Given the description of an element on the screen output the (x, y) to click on. 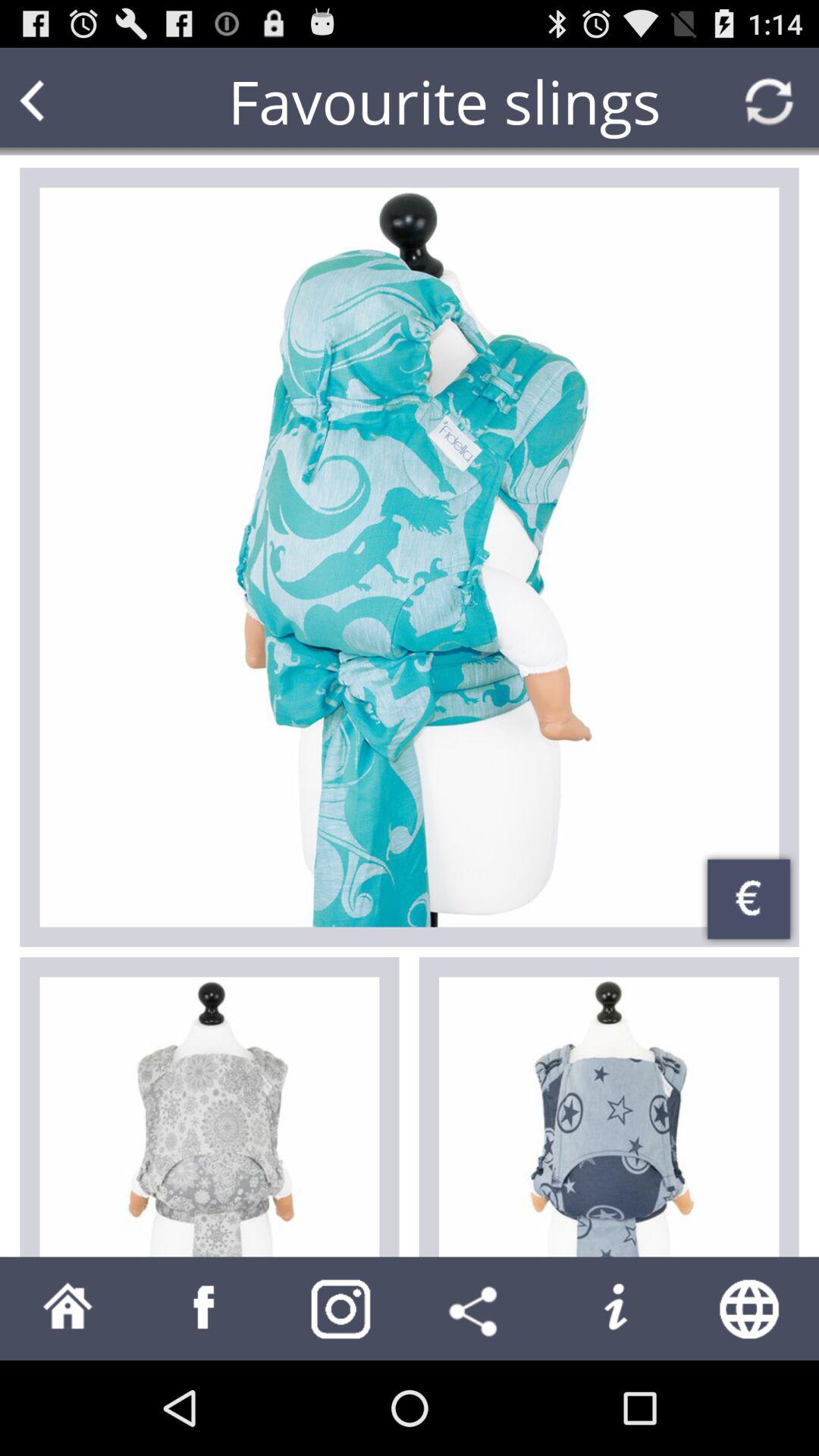
share the article (477, 1308)
